Given the description of an element on the screen output the (x, y) to click on. 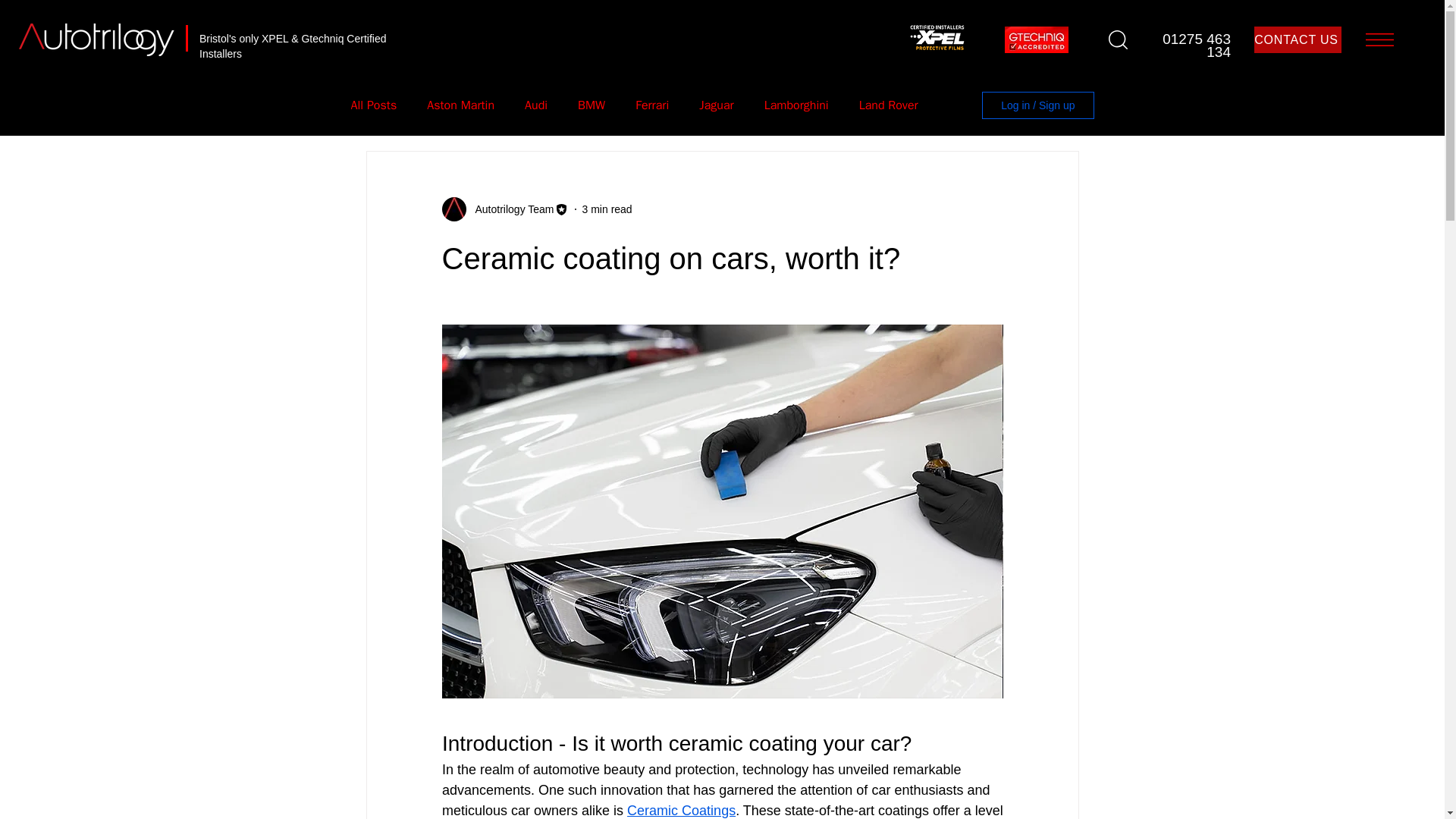
Aston Martin (460, 105)
3 min read (606, 209)
CONTACT US (1296, 39)
Ceramic Coatings (681, 810)
All Posts (373, 105)
Ferrari (651, 105)
Autotrilogy Team (509, 209)
Audi (535, 105)
Jaguar (715, 105)
BMW (591, 105)
